Given the description of an element on the screen output the (x, y) to click on. 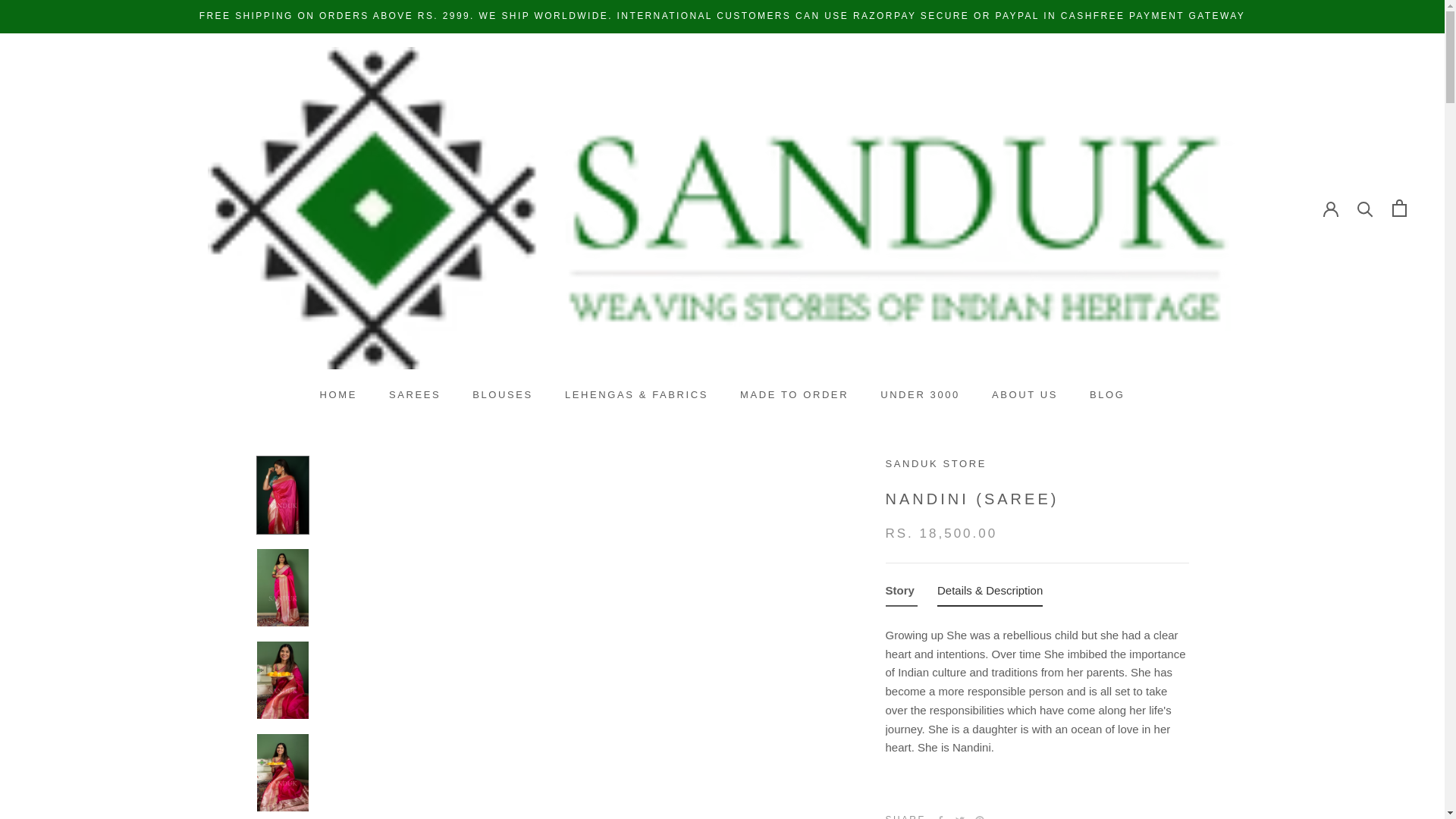
SAREES (414, 394)
